Given the description of an element on the screen output the (x, y) to click on. 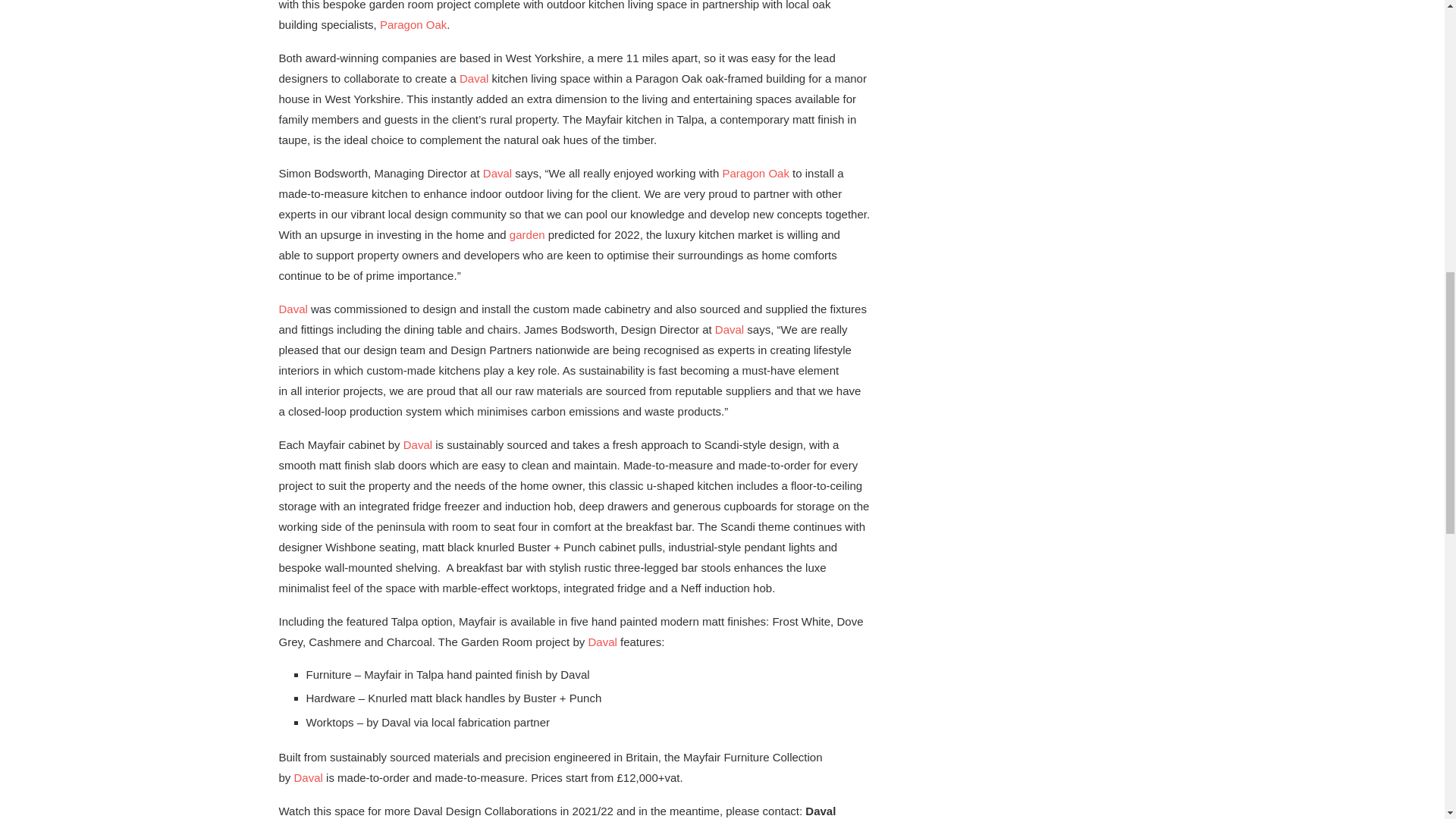
Daval (729, 328)
Daval (473, 78)
garden (526, 234)
Daval (497, 173)
Paragon Oak (413, 24)
Daval (293, 308)
Paragon Oak (755, 173)
Daval (308, 777)
Daval (417, 444)
Daval (601, 641)
